Given the description of an element on the screen output the (x, y) to click on. 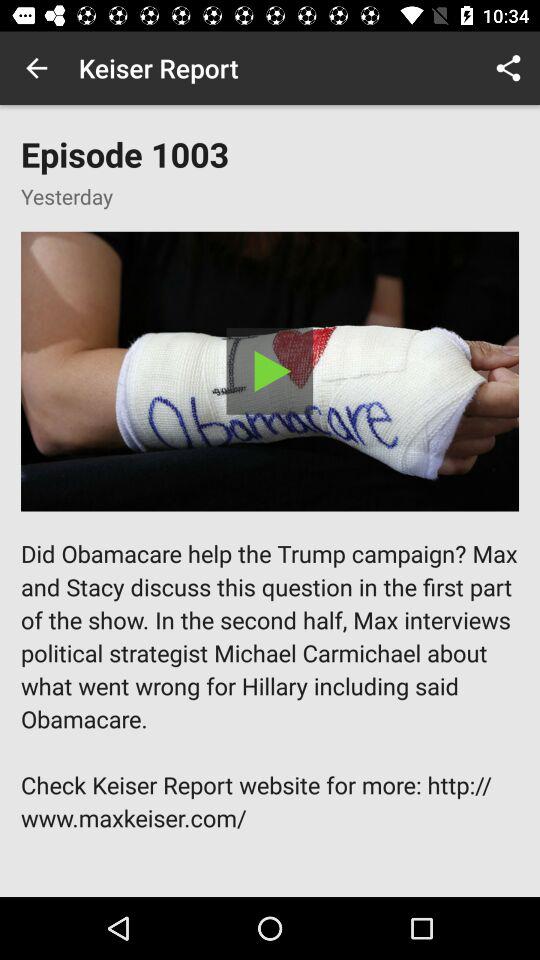
turn off the icon to the right of keiser report (508, 67)
